Given the description of an element on the screen output the (x, y) to click on. 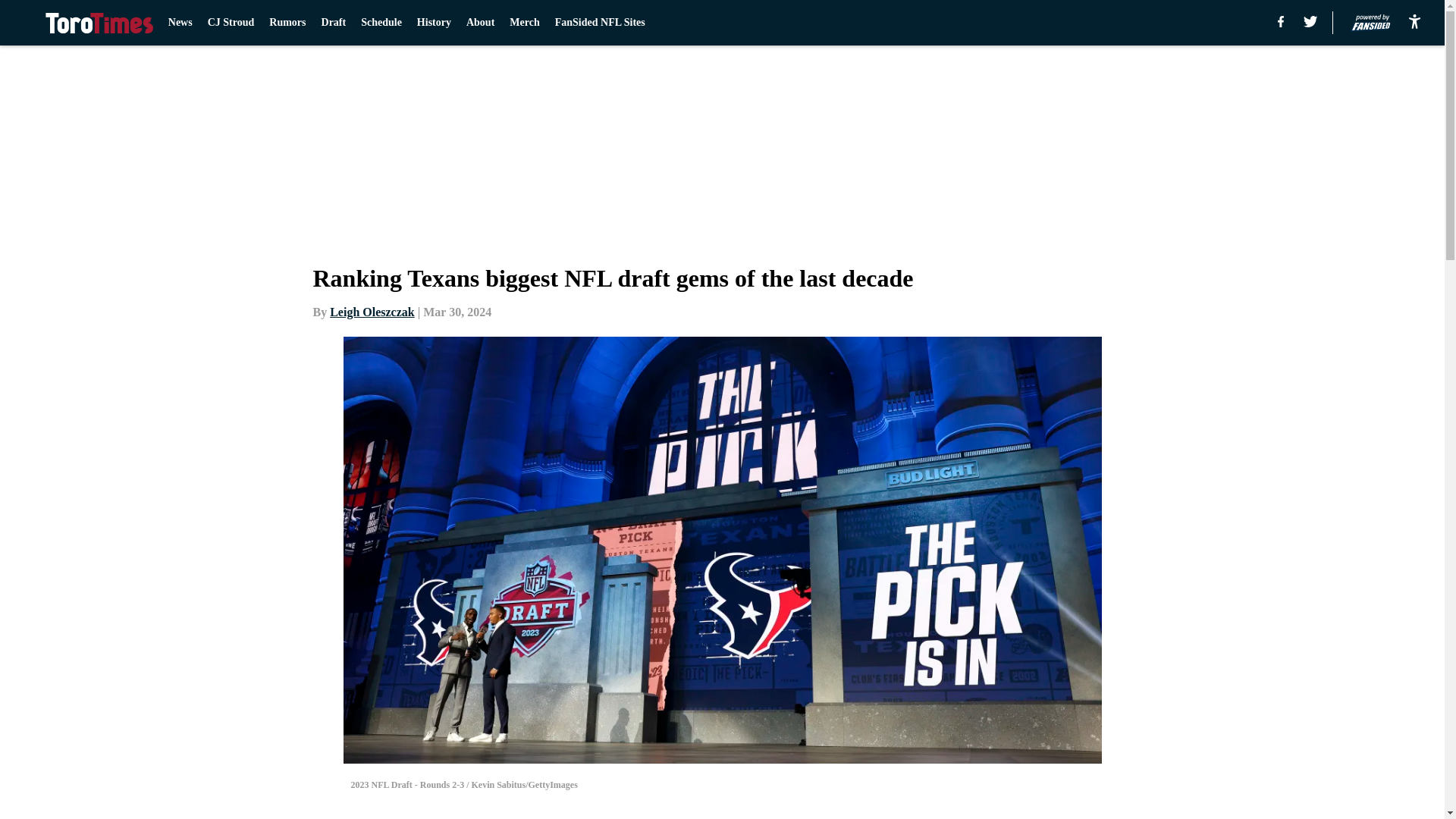
Draft (333, 22)
FanSided NFL Sites (599, 22)
Schedule (381, 22)
Rumors (287, 22)
CJ Stroud (231, 22)
Merch (523, 22)
Leigh Oleszczak (372, 311)
History (433, 22)
News (180, 22)
About (480, 22)
